Given the description of an element on the screen output the (x, y) to click on. 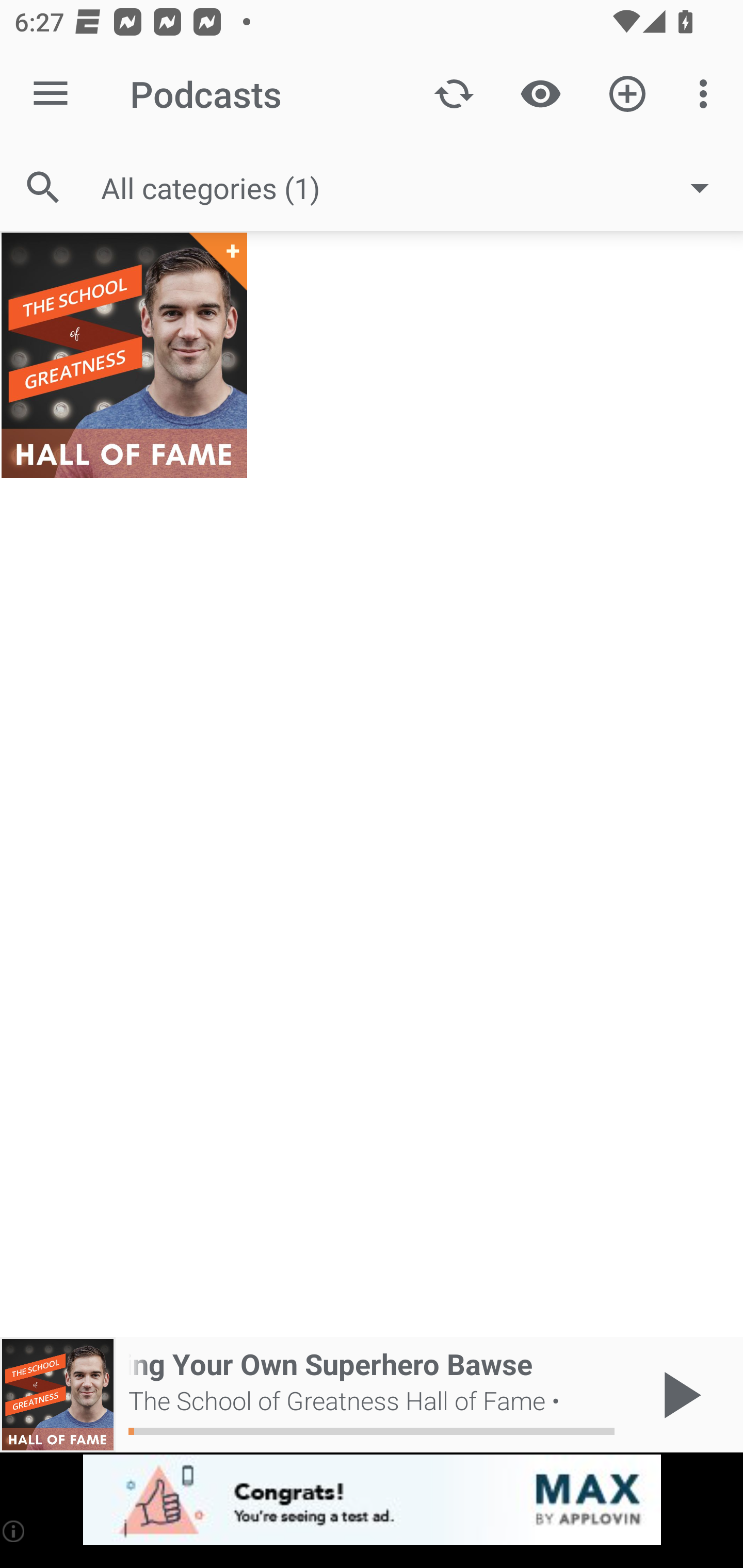
Open navigation sidebar (50, 93)
Update (453, 93)
Show / Hide played content (540, 93)
Add new Podcast (626, 93)
More options (706, 93)
Search (43, 187)
All categories (1) (414, 188)
The School of Greatness Hall of Fame + (124, 355)
Play / Pause (677, 1394)
app-monetization (371, 1500)
(i) (14, 1531)
